Given the description of an element on the screen output the (x, y) to click on. 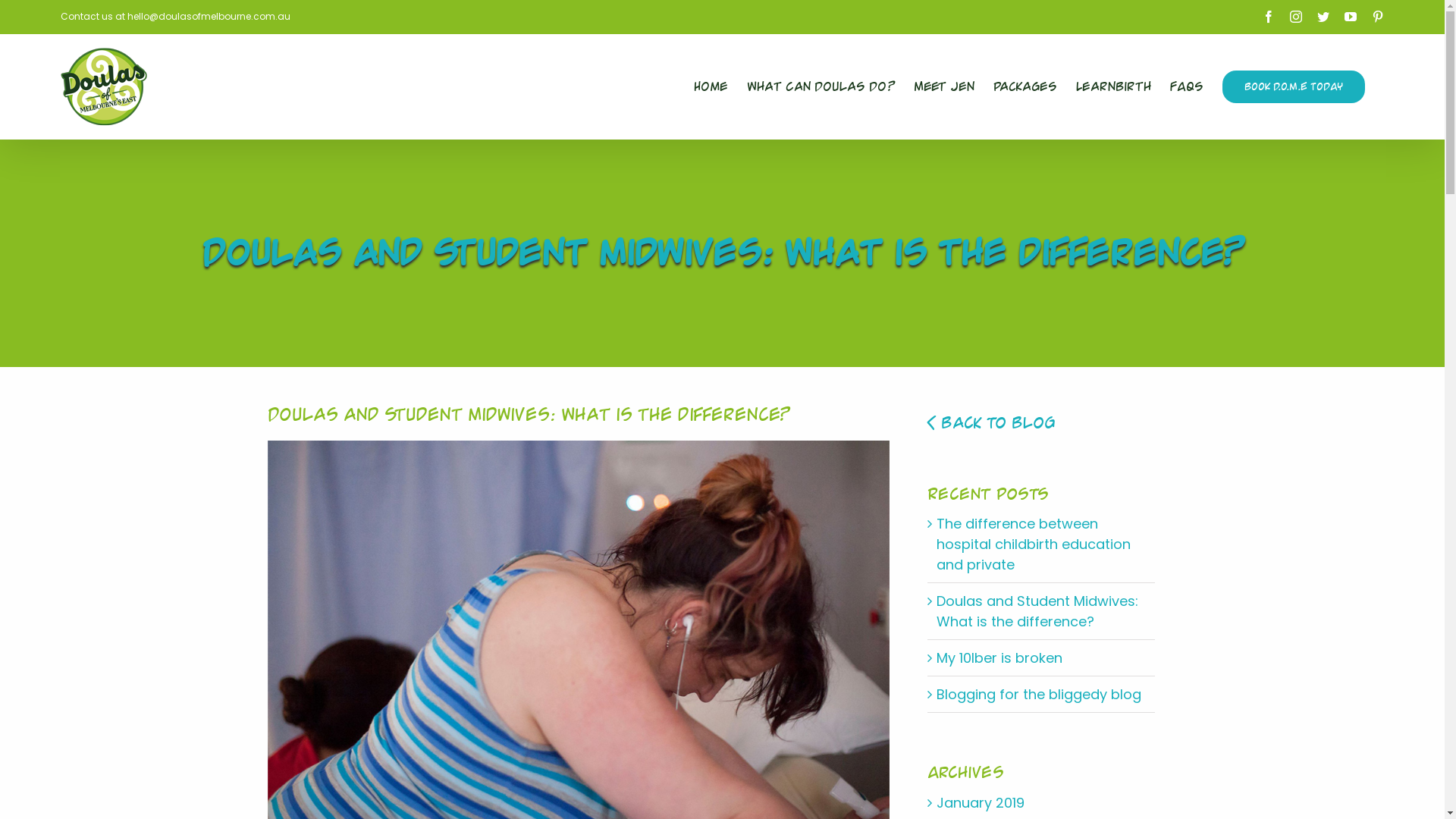
YouTube Element type: text (1350, 16)
Pinterest Element type: text (1377, 16)
Blogging for the bliggedy blog Element type: text (1037, 693)
Instagram Element type: text (1295, 16)
< Back to Blog Element type: text (990, 422)
Meet Jen Element type: text (943, 86)
January 2019 Element type: text (979, 802)
Contact us at hello@doulasofmelbourne.com.au Element type: text (175, 15)
Doulas and Student Midwives: What is the difference? Element type: text (1036, 610)
What Can Doulas Do? Element type: text (820, 86)
Packages Element type: text (1025, 86)
LearnBirth Element type: text (1113, 86)
FAQs Element type: text (1186, 86)
Twitter Element type: text (1323, 16)
Home Element type: text (710, 86)
BOOK D.O.M.E TODAY Element type: text (1293, 86)
Facebook Element type: text (1268, 16)
My 10lber is broken Element type: text (998, 657)
